Given the description of an element on the screen output the (x, y) to click on. 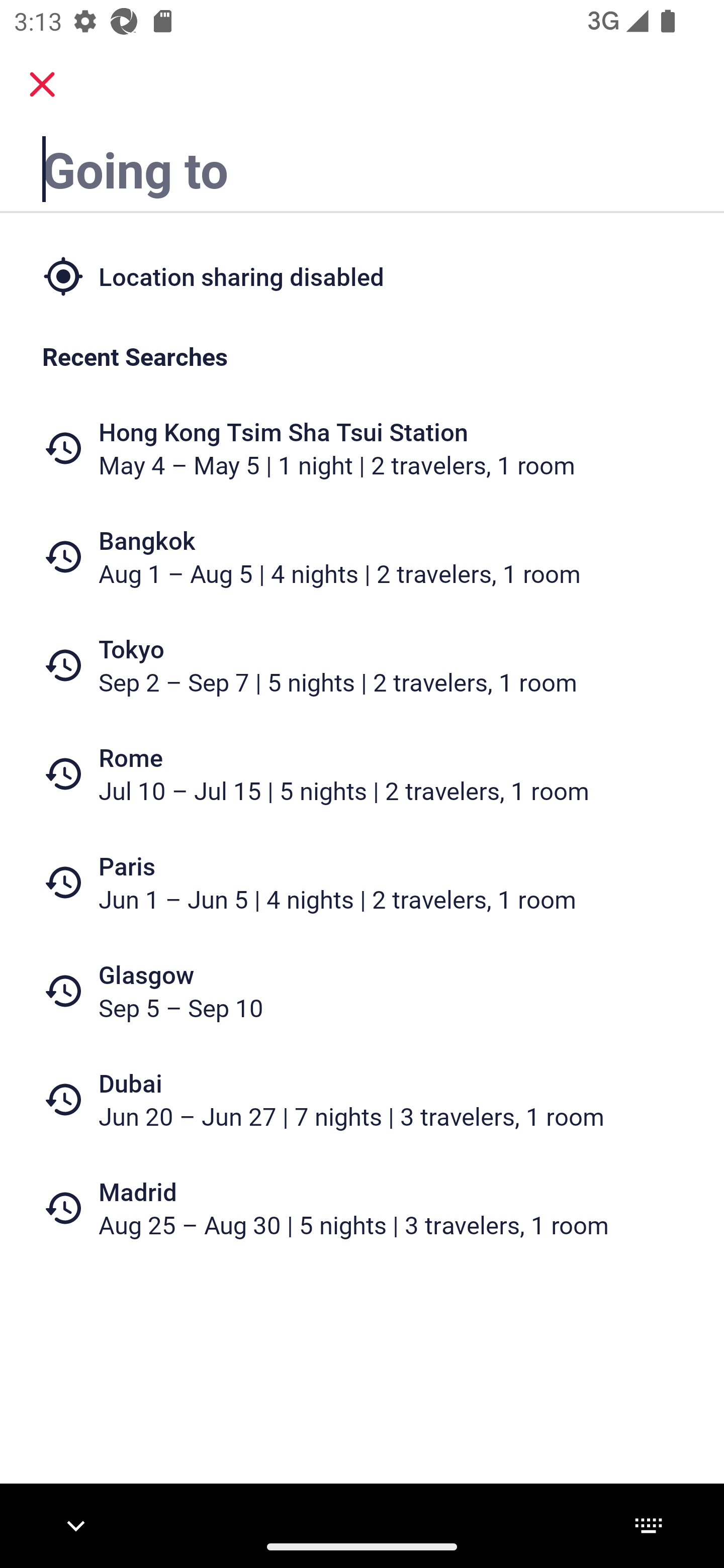
close. (42, 84)
Location sharing disabled (362, 275)
Glasgow Sep 5 – Sep 10 (362, 990)
